Given the description of an element on the screen output the (x, y) to click on. 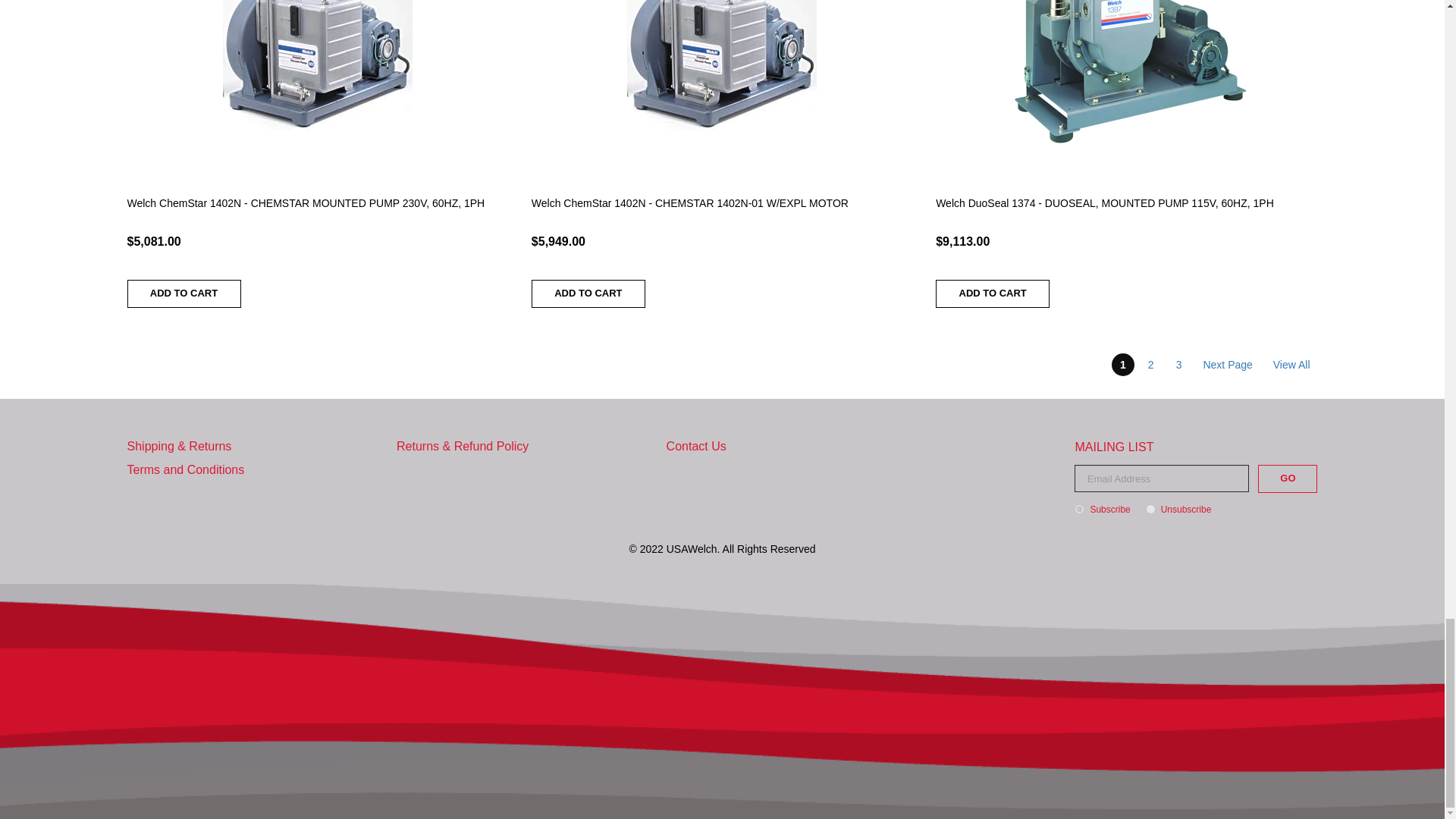
0 (1150, 509)
1 (1079, 509)
